Given the description of an element on the screen output the (x, y) to click on. 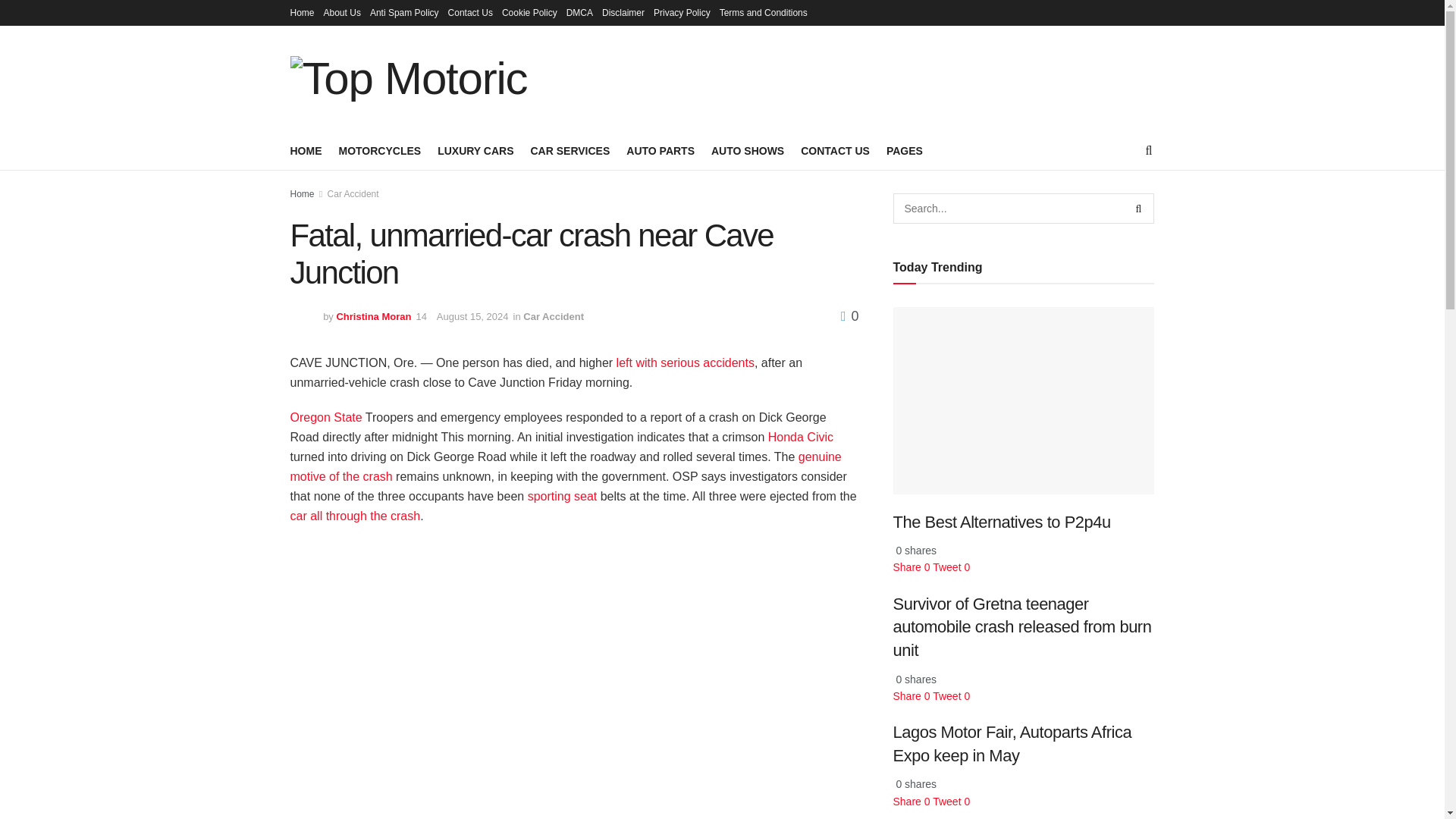
AUTO SHOWS (747, 150)
Anti Spam Policy (404, 12)
DMCA (579, 12)
Disclaimer (623, 12)
HOME (305, 150)
About Us (342, 12)
LUXURY CARS (475, 150)
PAGES (904, 150)
Contact Us (470, 12)
AUTO PARTS (660, 150)
